Given the description of an element on the screen output the (x, y) to click on. 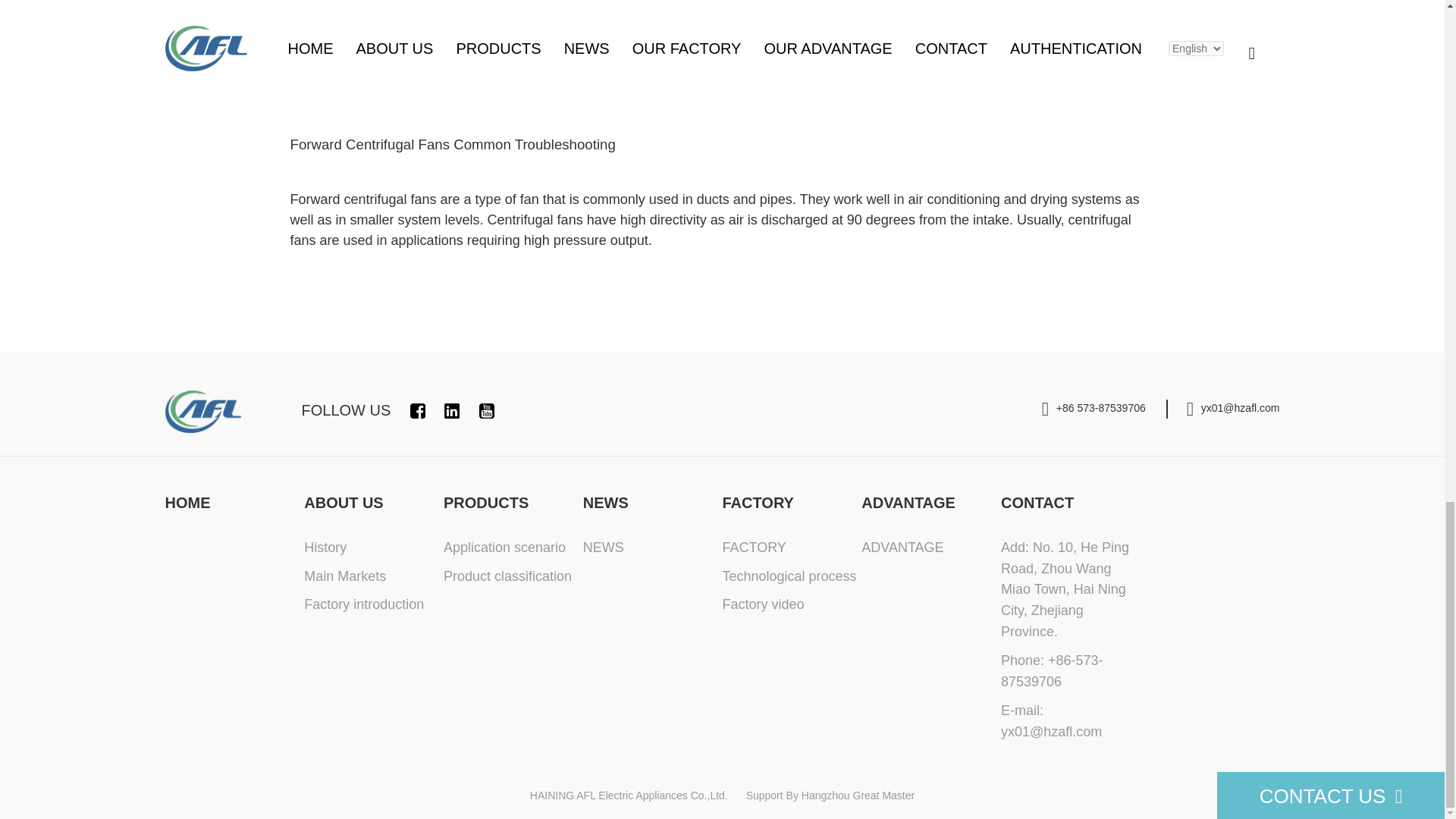
HOME (188, 502)
PRODUCTS (486, 502)
Factory introduction (363, 604)
Application scenario (505, 547)
ABOUT US (343, 502)
History (325, 547)
Main Markets (344, 575)
Forward centrifugal fans (362, 149)
